Given the description of an element on the screen output the (x, y) to click on. 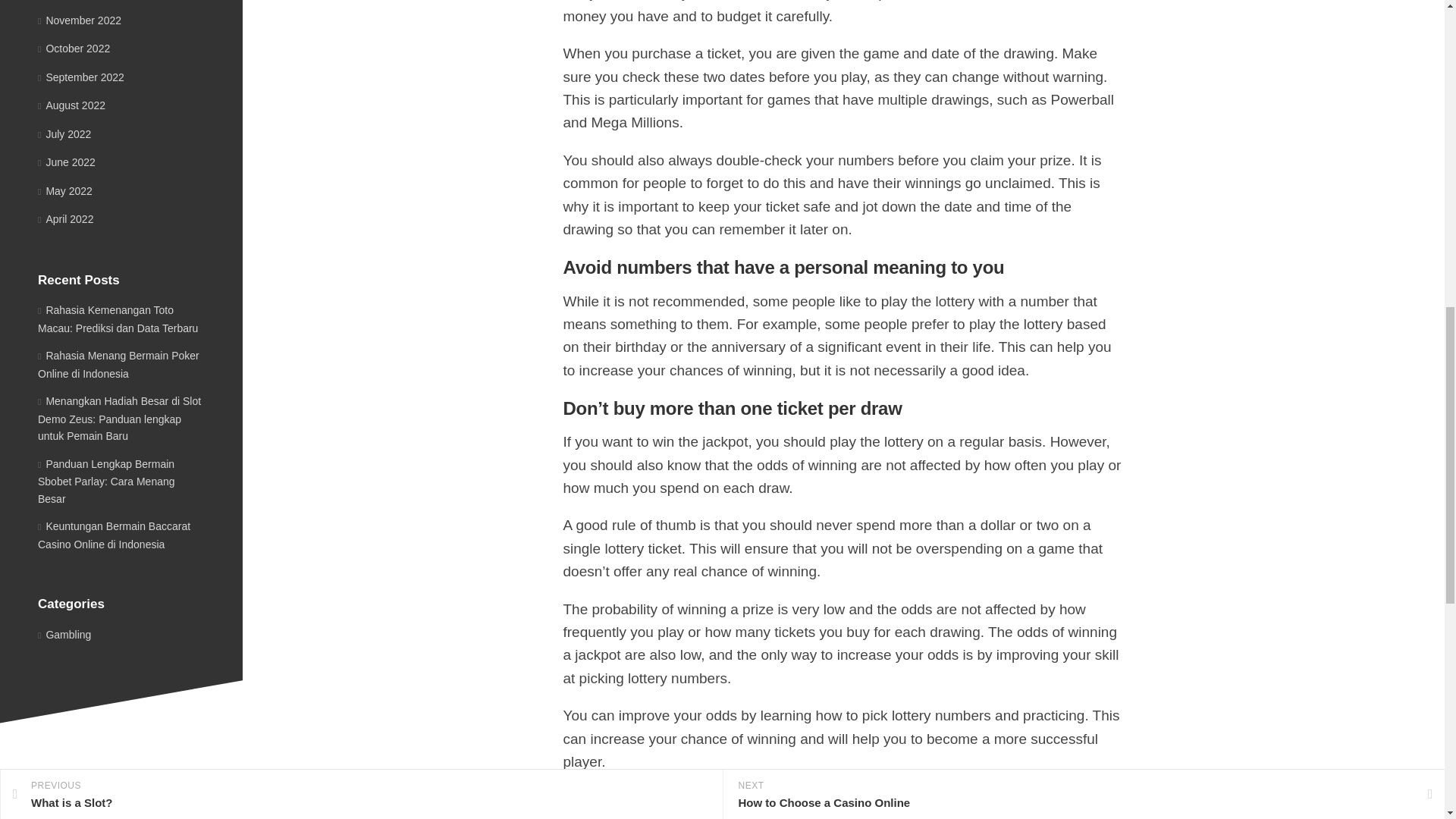
June 2022 (66, 162)
August 2022 (70, 105)
September 2022 (80, 77)
May 2022 (65, 191)
July 2022 (63, 133)
October 2022 (73, 48)
November 2022 (78, 19)
